Given the description of an element on the screen output the (x, y) to click on. 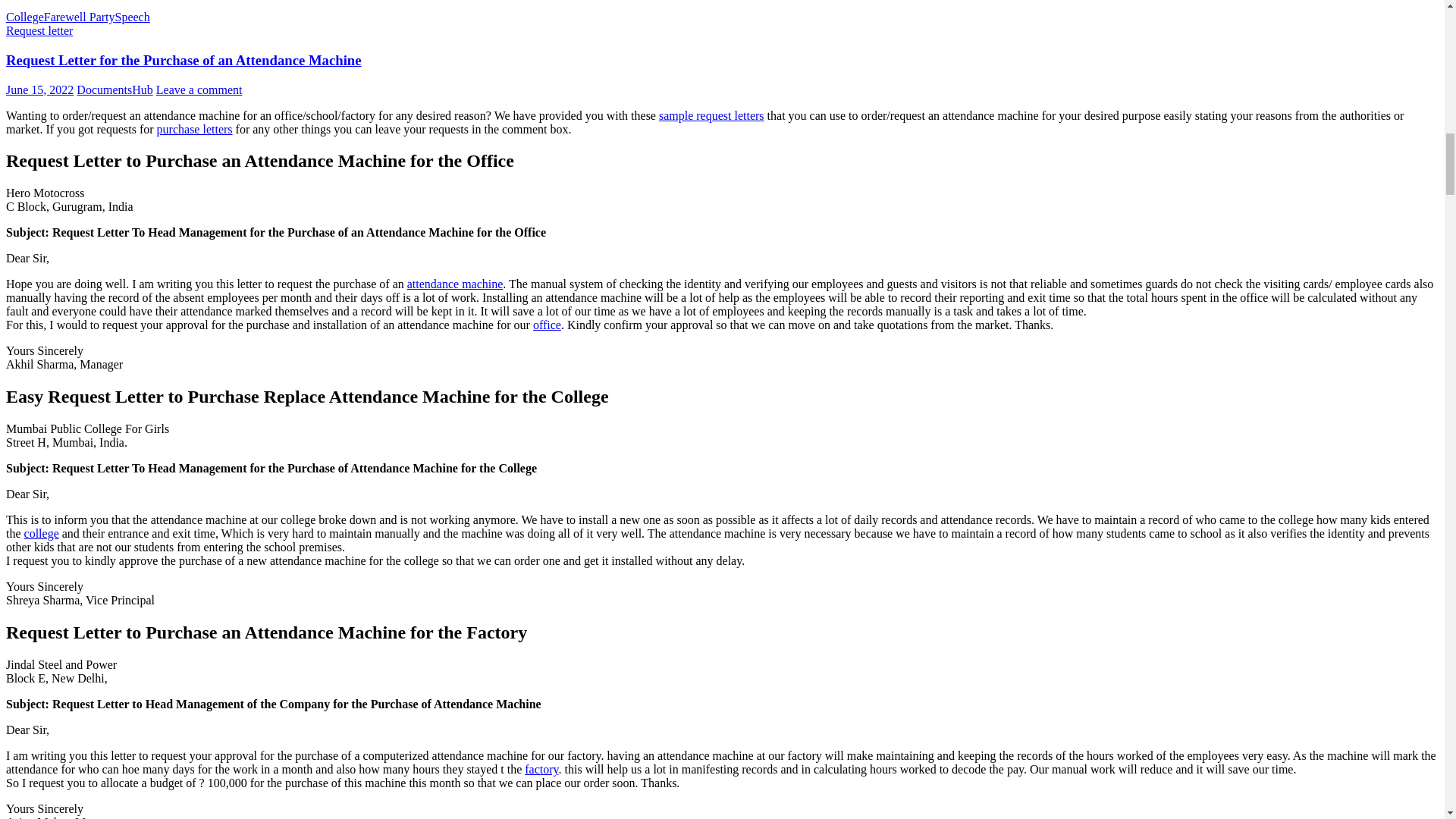
DocumentsHub (114, 89)
Request letter (38, 30)
attendance machine (455, 283)
Leave a comment (199, 89)
June 15, 2022 (39, 89)
office (546, 324)
purchase letters (194, 128)
Speech (132, 16)
sample request letters (711, 115)
Request Letter for the Purchase of an Attendance Machine (183, 59)
